Given the description of an element on the screen output the (x, y) to click on. 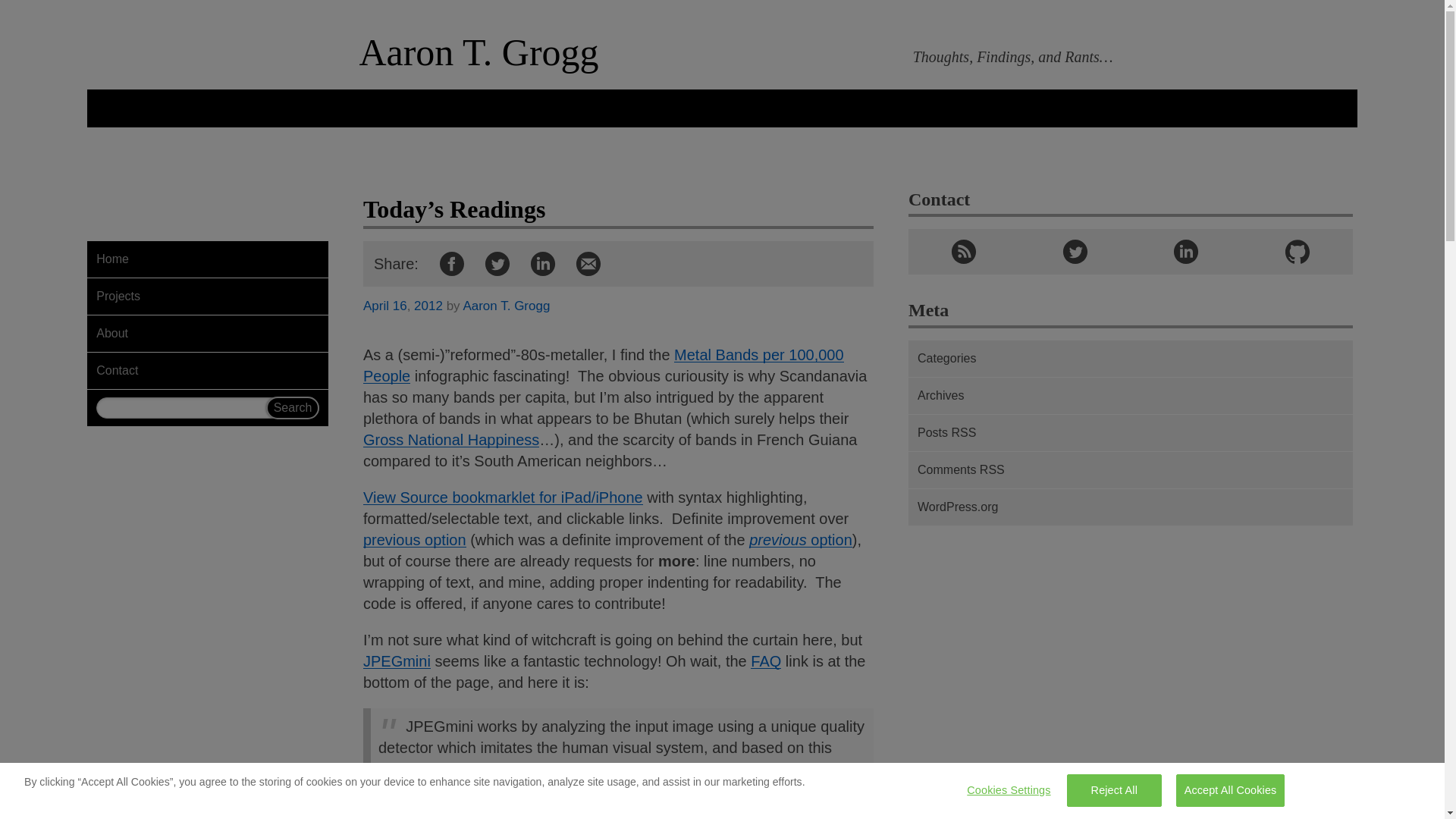
View Archives for April 16 2012 (400, 305)
previous option (413, 539)
Follow me on Twitter (1075, 251)
Share on Facebook (451, 263)
previous option (800, 539)
About (208, 333)
Share on LinkedIn (542, 263)
Aaron T. Grogg (506, 305)
Gross National Happiness (450, 439)
View Archives for 2012 (427, 305)
Metal Bands per 100,000 People (603, 365)
Search (293, 407)
FAQ (765, 660)
April (375, 305)
Share on Twitter (496, 263)
